Given the description of an element on the screen output the (x, y) to click on. 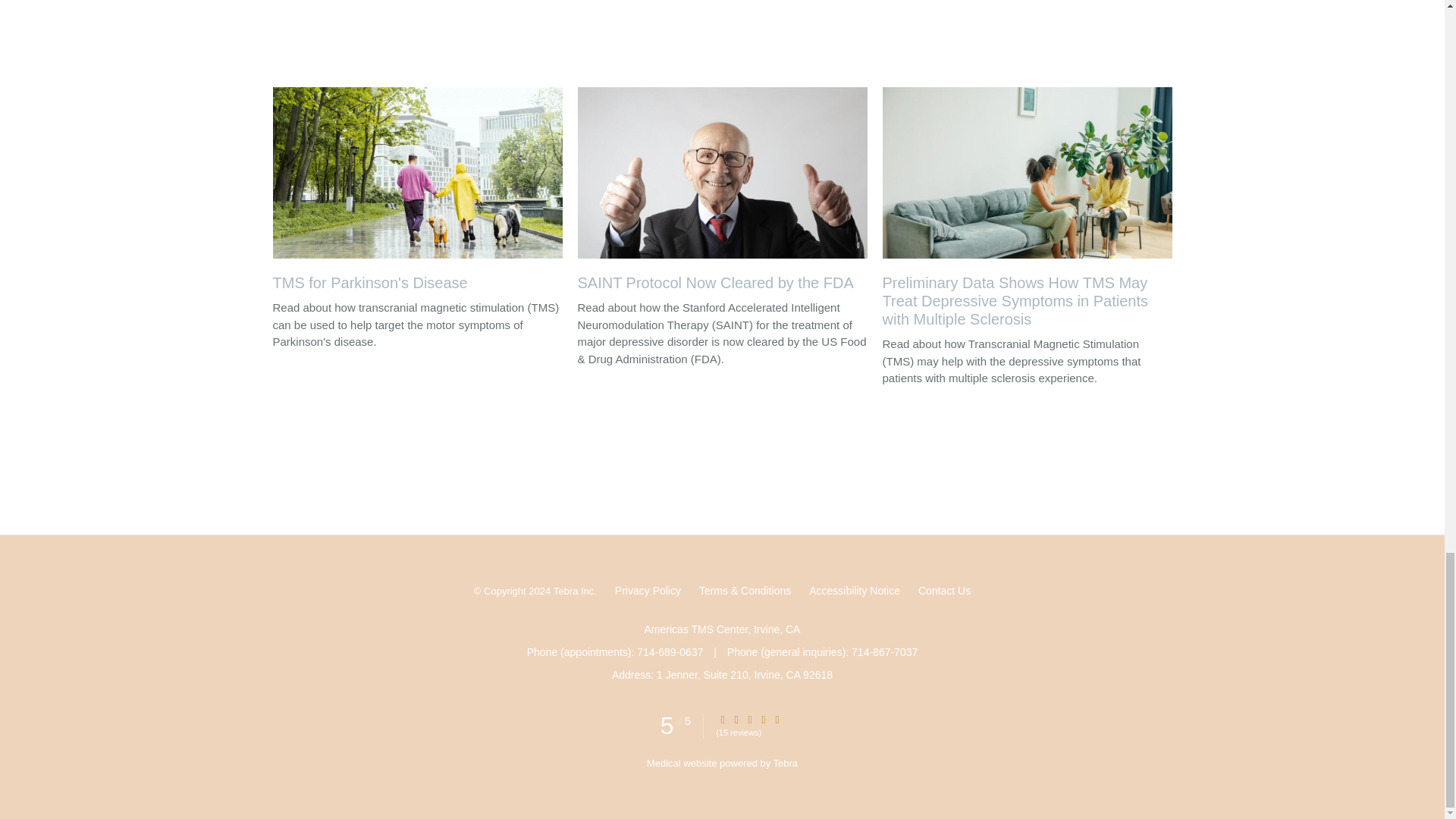
Star Rating (777, 719)
Star Rating (749, 719)
Star Rating (735, 719)
Star Rating (763, 719)
Star Rating (722, 719)
